Given the description of an element on the screen output the (x, y) to click on. 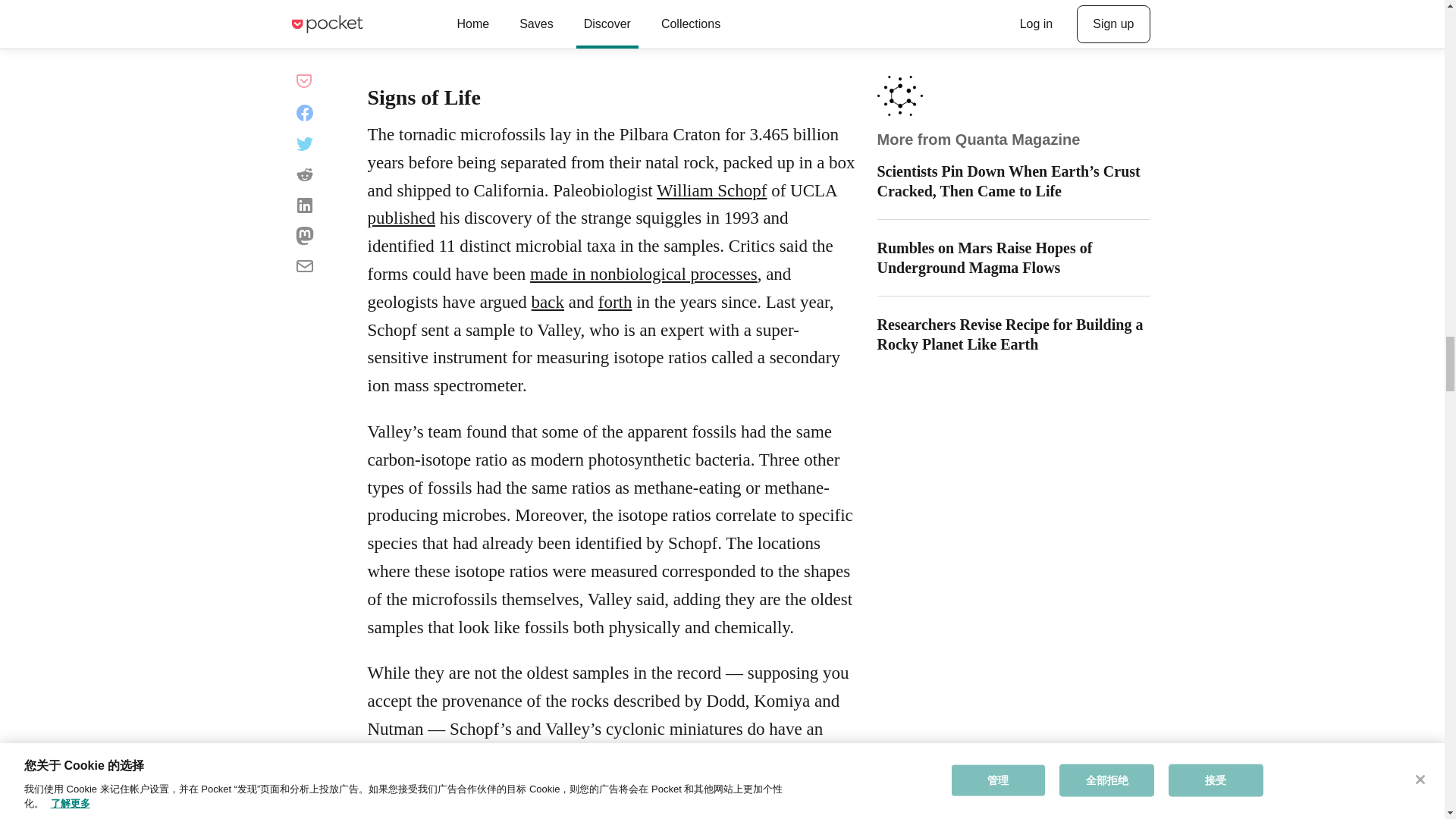
back (547, 302)
published (399, 217)
forth (614, 302)
made in nonbiological processes (643, 273)
William Schopf (711, 189)
